Given the description of an element on the screen output the (x, y) to click on. 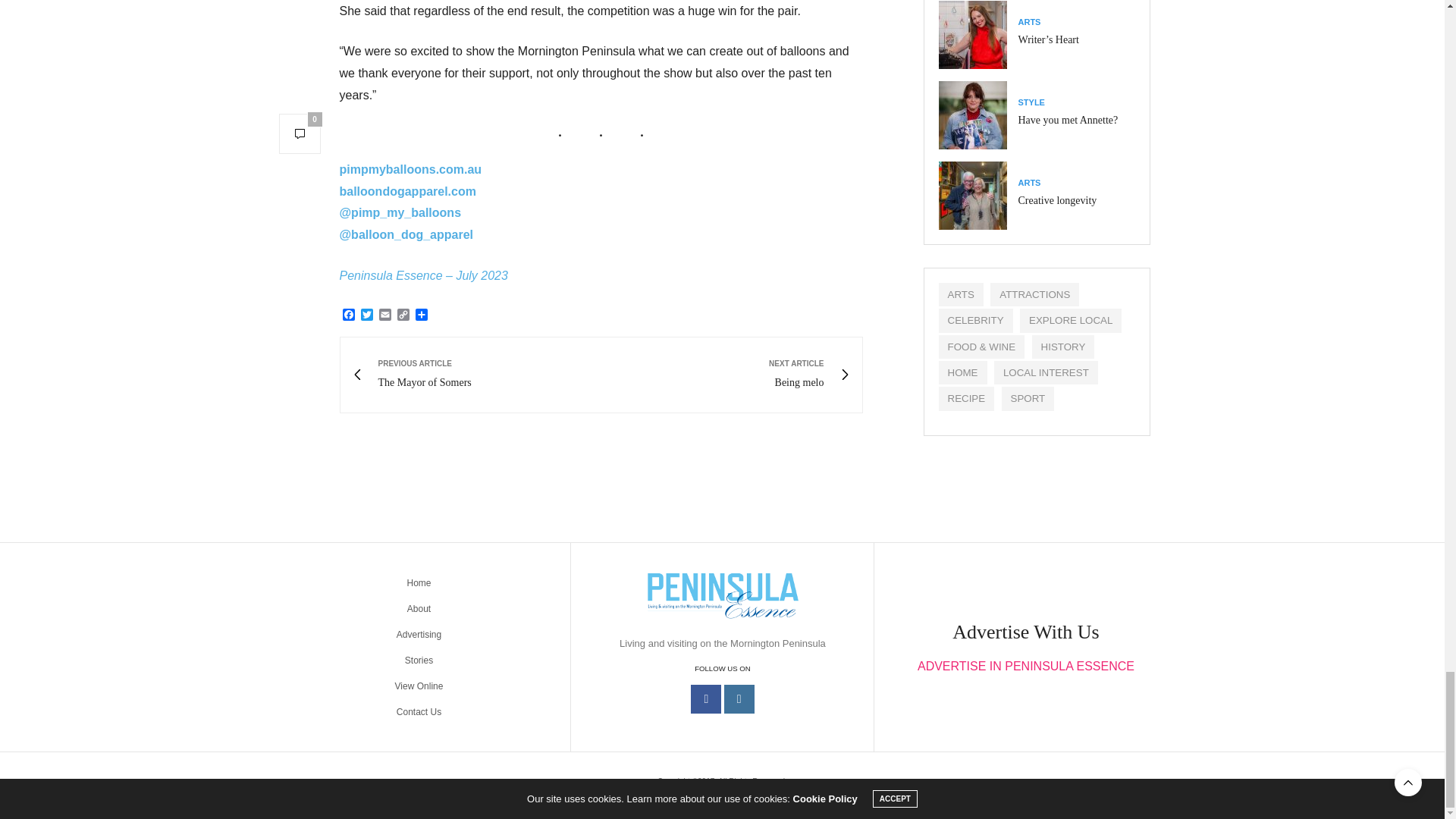
Twitter (366, 315)
balloondogapparel.com (407, 190)
pimpmyballoons.com.au (410, 169)
Facebook (348, 315)
Facebook (348, 315)
Twitter (726, 375)
Copy Link (366, 315)
Copy Link (403, 315)
Email (403, 315)
Email (384, 315)
Share (384, 315)
